Given the description of an element on the screen output the (x, y) to click on. 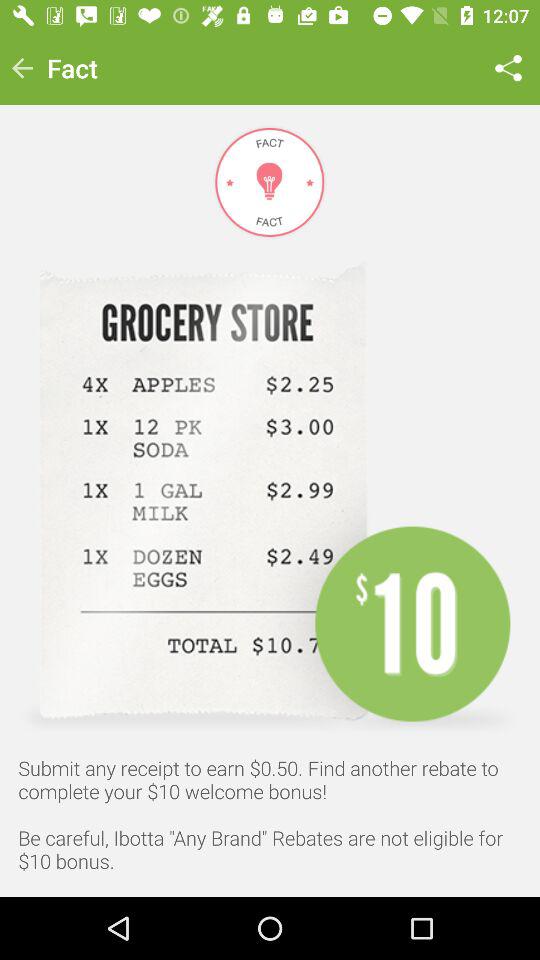
turn off item to the right of the fact (508, 67)
